Given the description of an element on the screen output the (x, y) to click on. 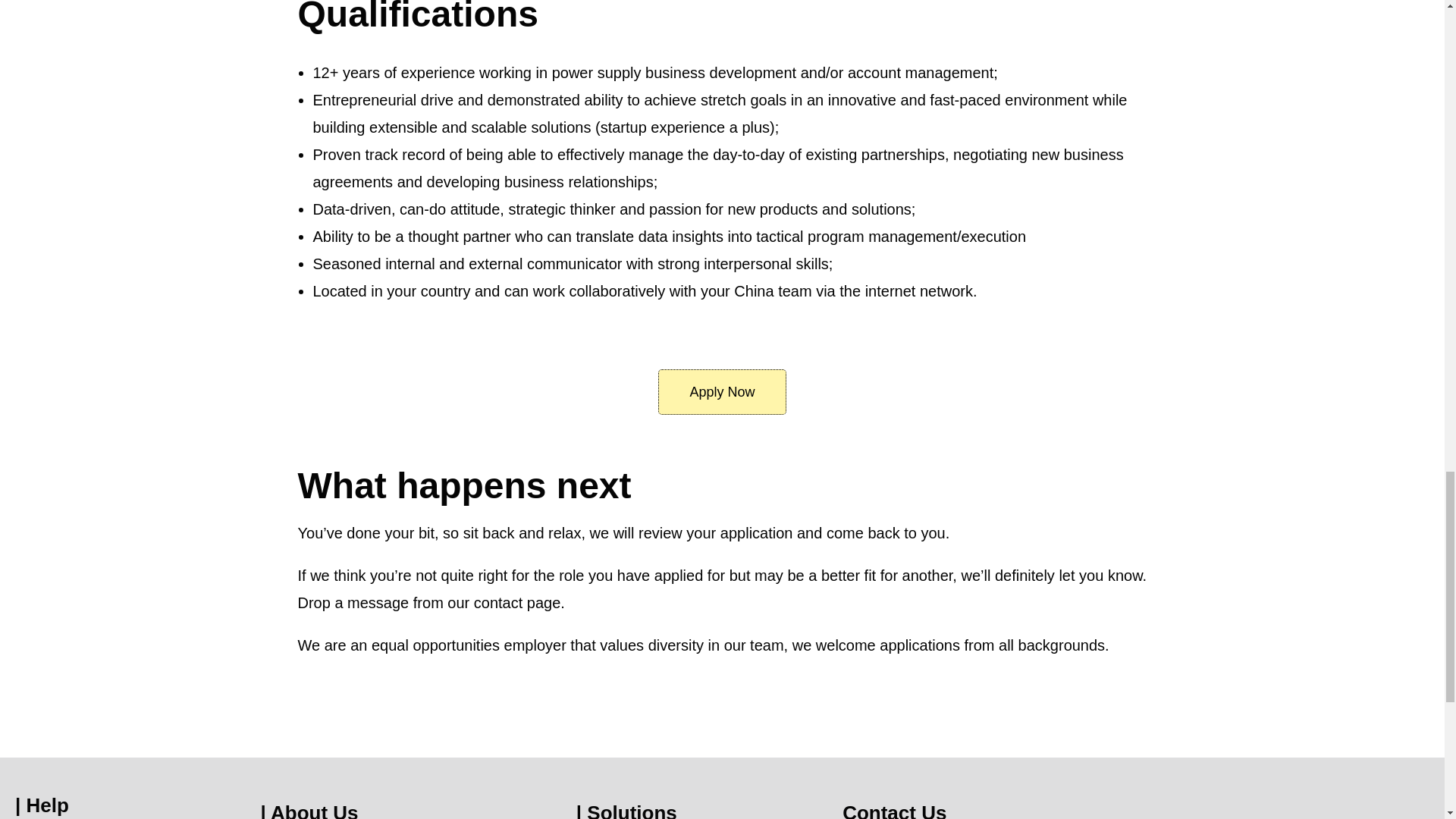
Apply Now (722, 391)
